Given the description of an element on the screen output the (x, y) to click on. 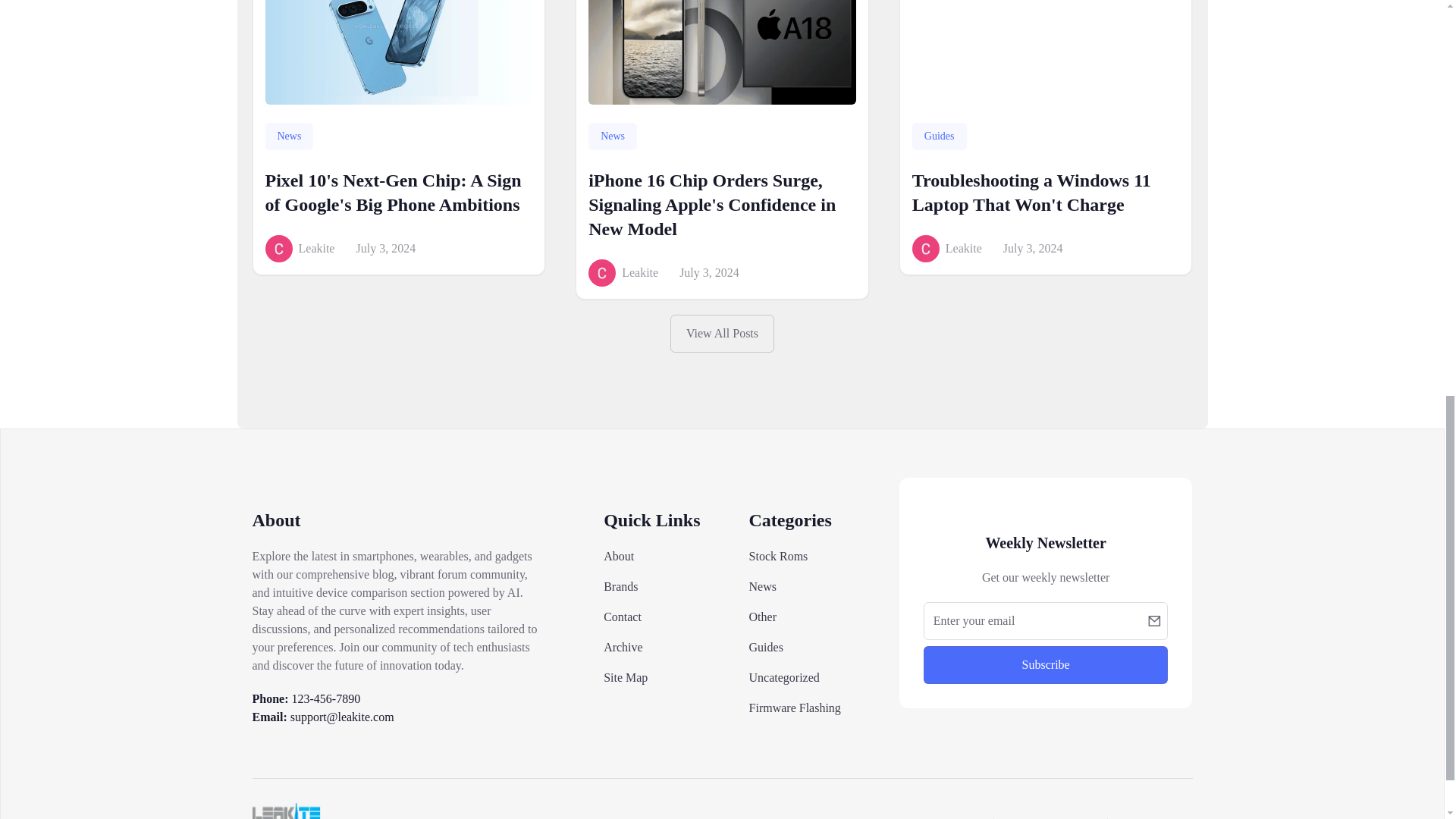
Other (762, 616)
Archive (623, 646)
Subscribe (1046, 664)
Site Map (625, 676)
Stock Roms (778, 555)
News (762, 585)
Firmware Flashing (795, 707)
View All Posts (721, 333)
Guides (766, 646)
About (618, 555)
Uncategorized (784, 676)
Brands (620, 585)
